Given the description of an element on the screen output the (x, y) to click on. 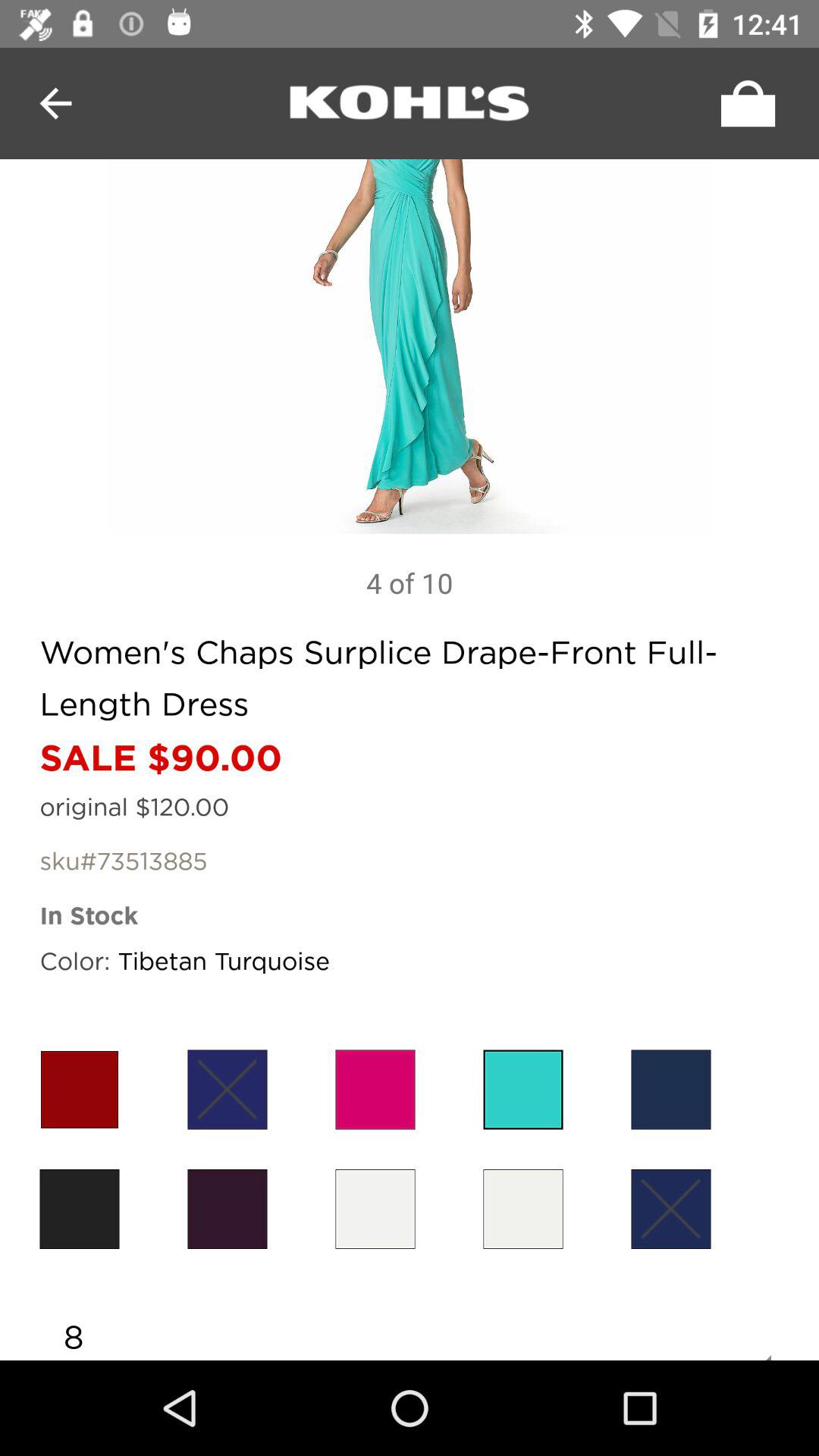
change color to red (79, 1089)
